Given the description of an element on the screen output the (x, y) to click on. 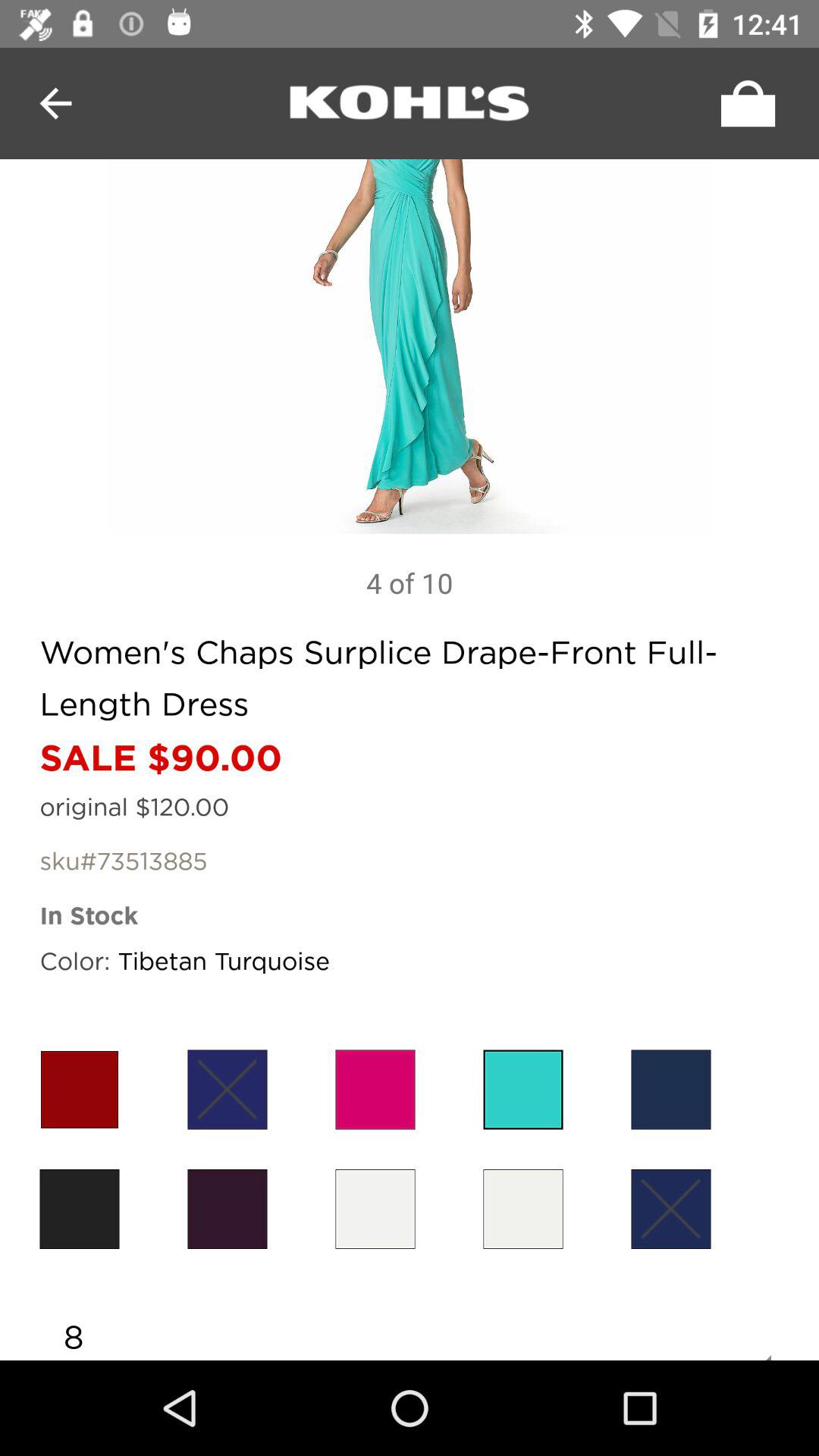
change color to red (79, 1089)
